Given the description of an element on the screen output the (x, y) to click on. 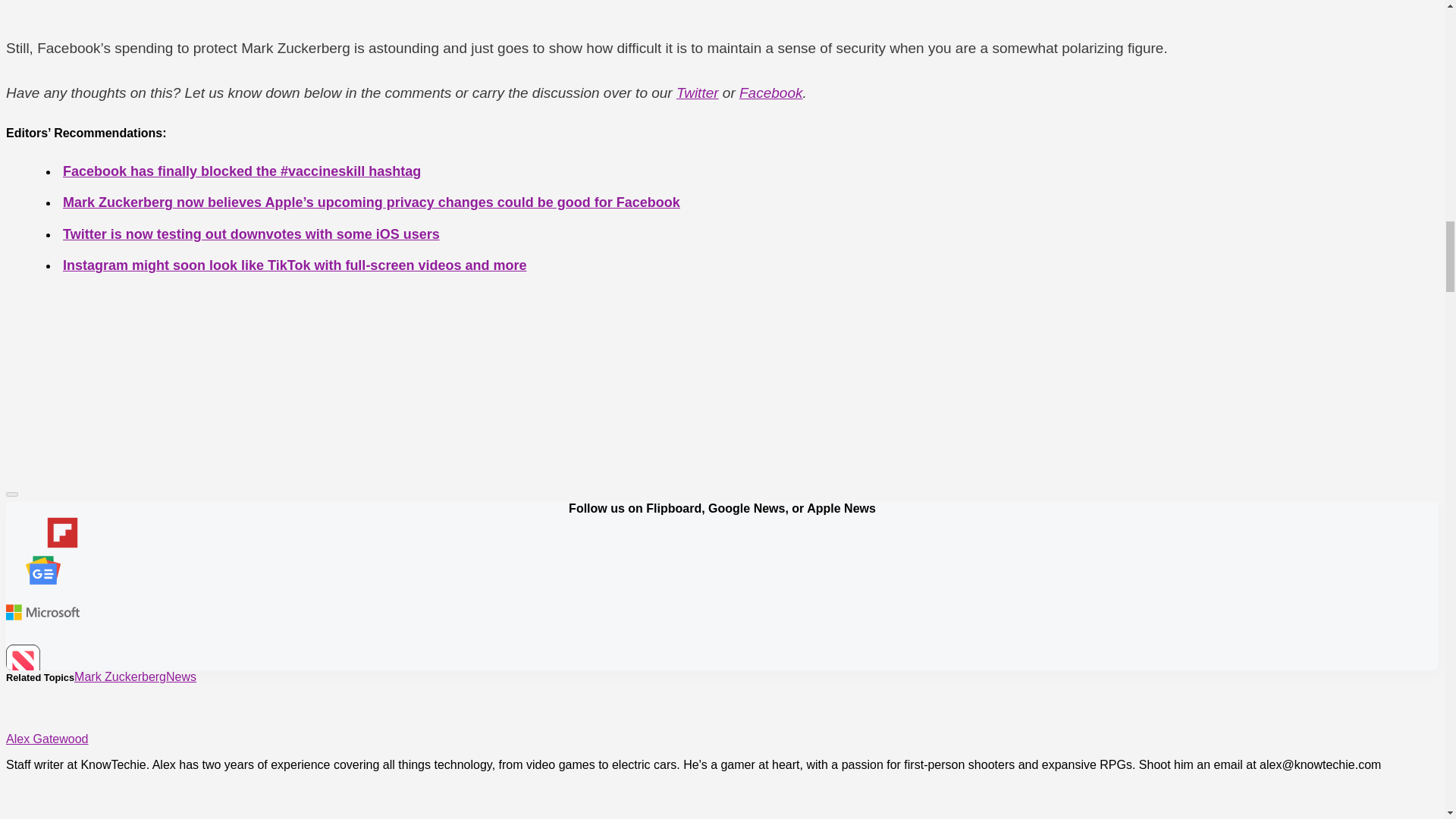
KnowTechie Flipboard (42, 533)
KnowTechie Google News (42, 571)
MSN KnowTechie (42, 613)
Posts by Alex Gatewood (46, 738)
KnowTechie Apple News (42, 662)
